Given the description of an element on the screen output the (x, y) to click on. 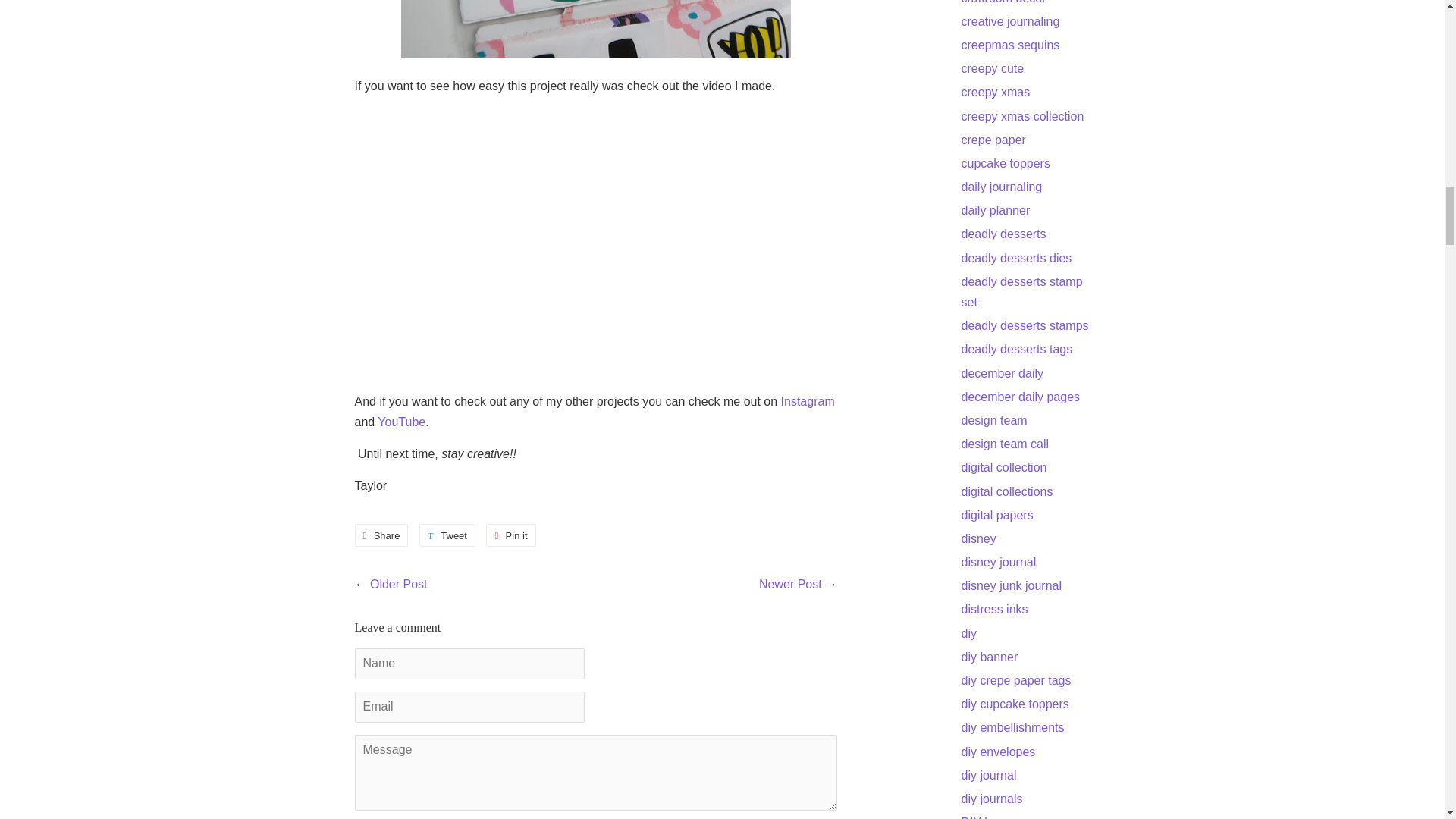
Pin on Pinterest (510, 535)
Share on Facebook (382, 535)
Tweet on Twitter (447, 535)
